Given the description of an element on the screen output the (x, y) to click on. 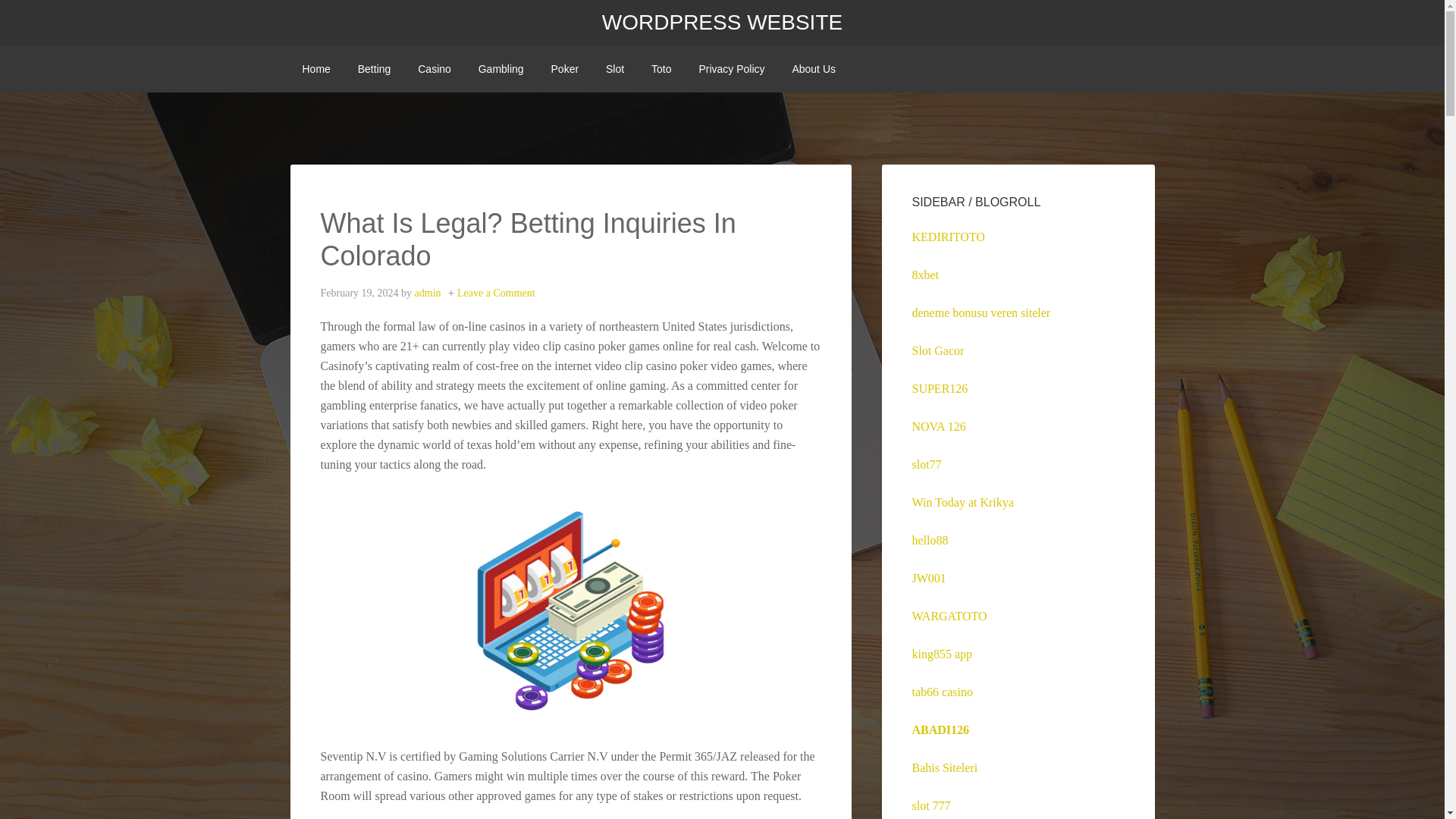
slot 777 (930, 805)
admin (427, 292)
Gambling (500, 68)
slot77 (925, 463)
WARGATOTO (949, 615)
hello88 (929, 540)
Slot Gacor (937, 350)
Home (315, 68)
KEDIRITOTO (947, 236)
Win Today at Krikya (962, 502)
Poker (564, 68)
Leave a Comment (496, 292)
NOVA 126 (938, 426)
WORDPRESS WEBSITE (722, 22)
Privacy Policy (730, 68)
